Given the description of an element on the screen output the (x, y) to click on. 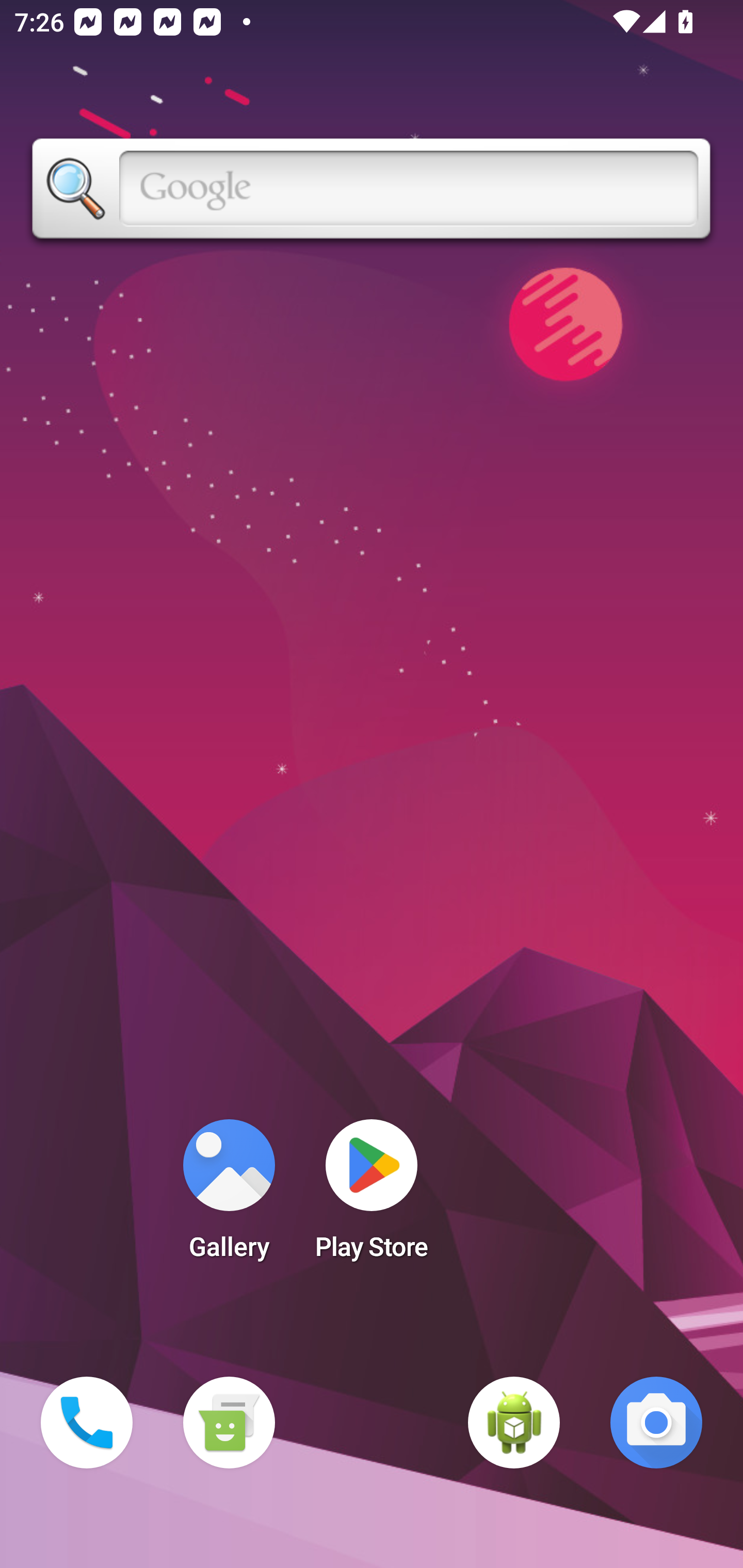
Gallery (228, 1195)
Play Store (371, 1195)
Phone (86, 1422)
Messaging (228, 1422)
WebView Browser Tester (513, 1422)
Camera (656, 1422)
